Given the description of an element on the screen output the (x, y) to click on. 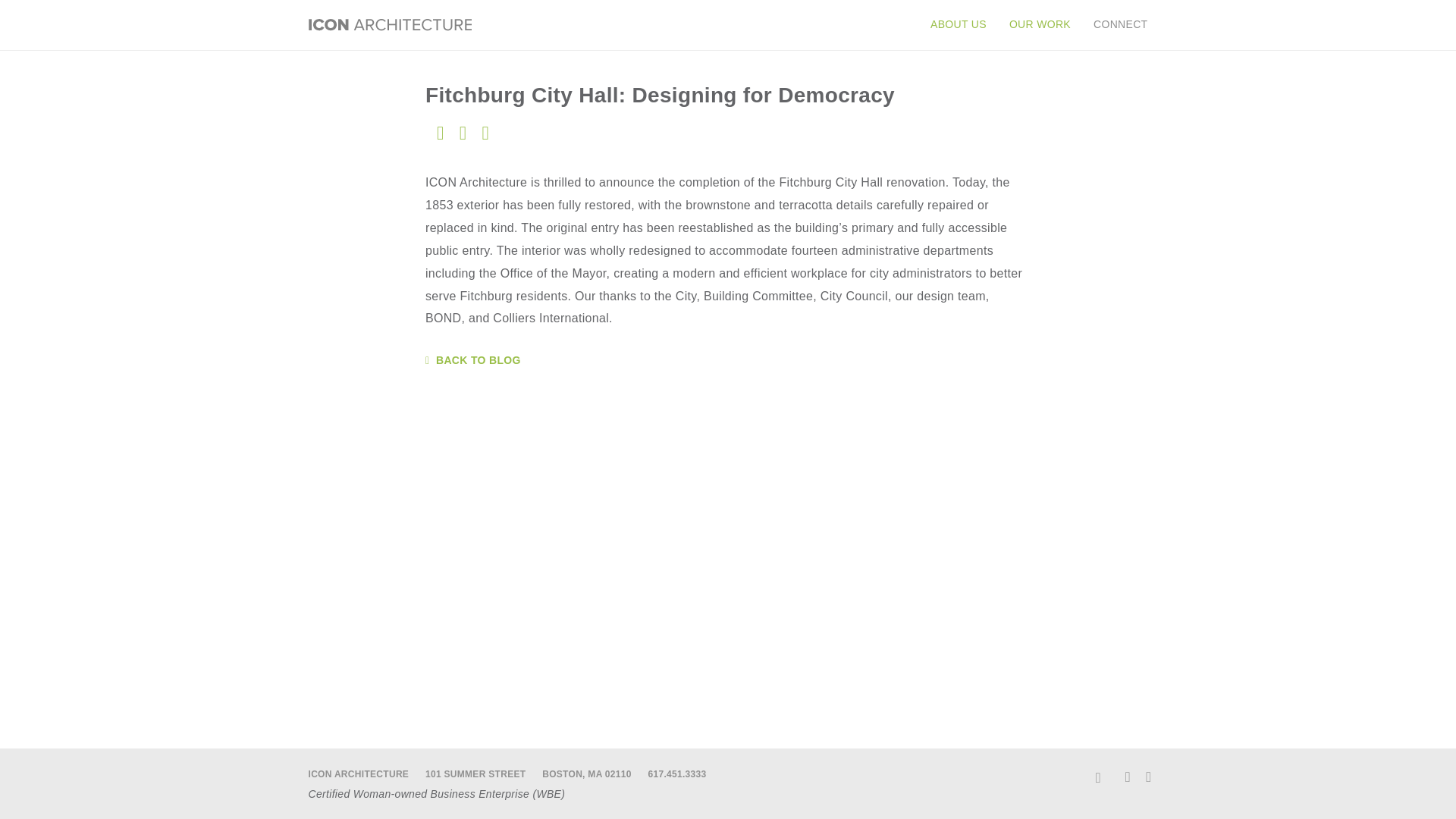
OUR WORK (1039, 24)
617.451.3333 (676, 774)
CONNECT (1114, 24)
ABOUT US (957, 24)
ICON Architecture (388, 24)
BACK TO BLOG (727, 359)
